Given the description of an element on the screen output the (x, y) to click on. 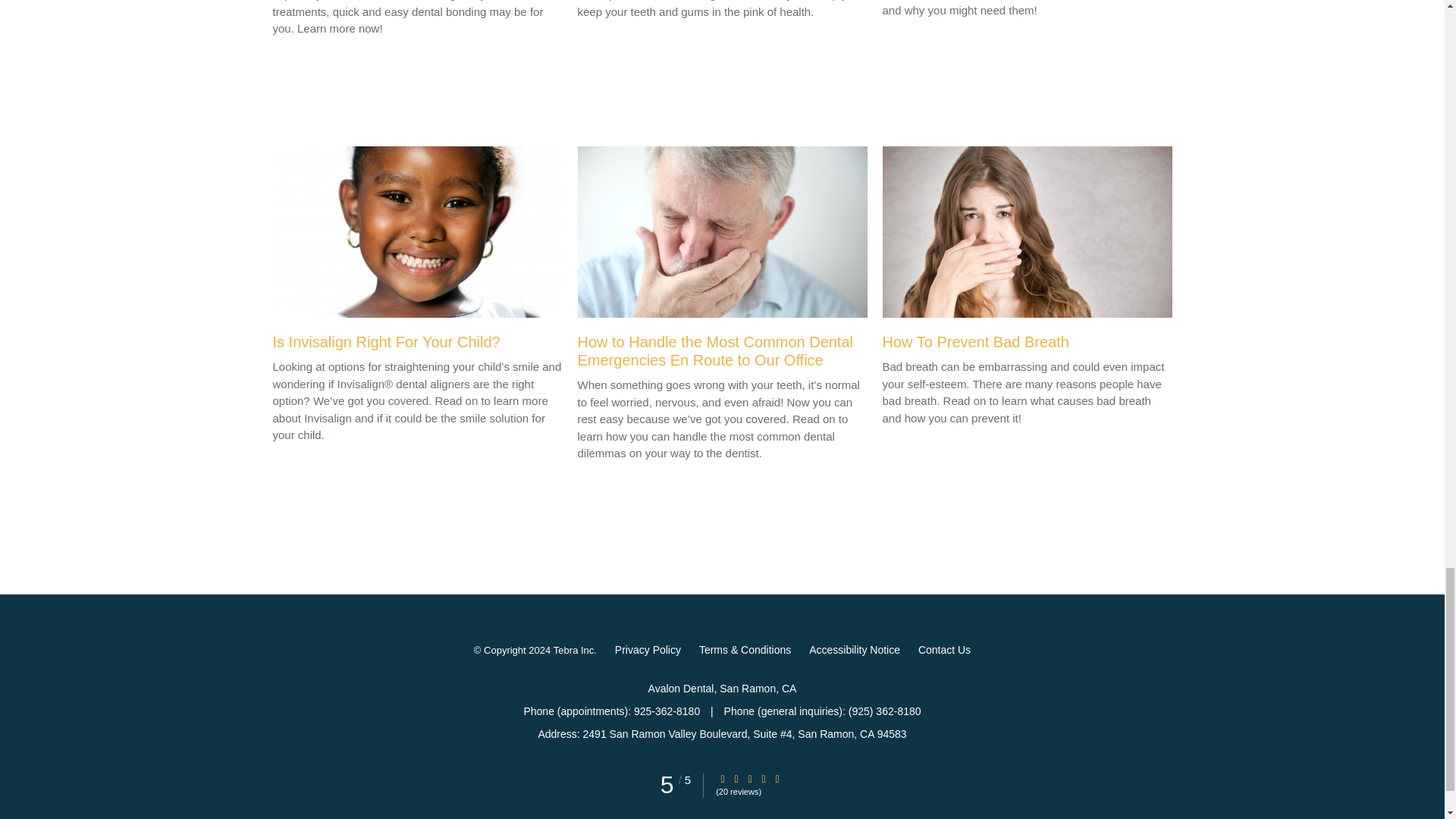
Is Invisalign Right For Your Child? (417, 252)
Star Rating (735, 778)
Star Rating (722, 778)
Privacy Policy (647, 649)
Star Rating (777, 778)
Tebra Inc (573, 650)
Star Rating (763, 778)
How To Prevent Bad Breath (1027, 252)
Star Rating (749, 778)
